Given the description of an element on the screen output the (x, y) to click on. 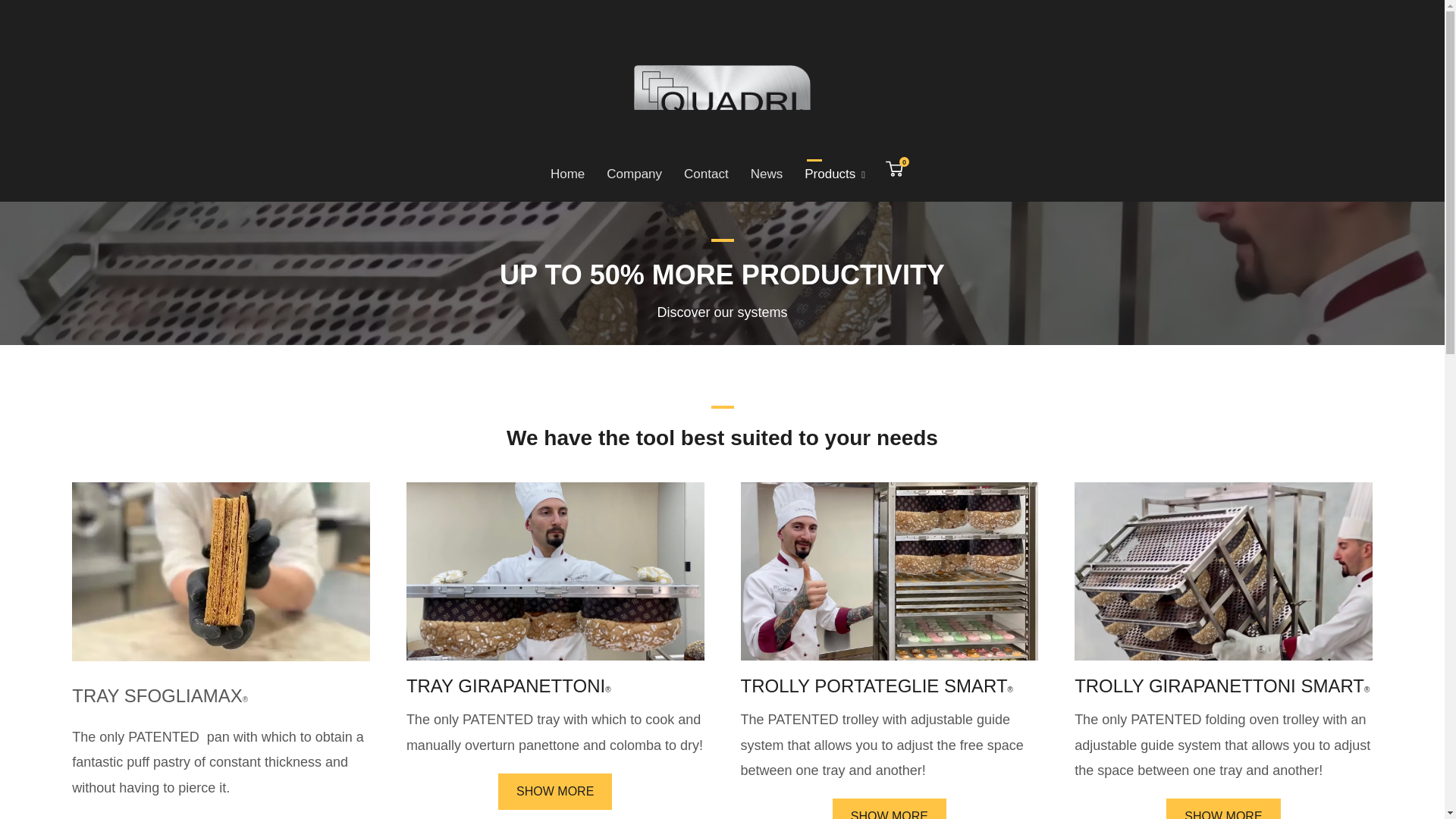
SHOW MORE (889, 808)
News (893, 169)
Home (766, 173)
SHOW MORE (567, 173)
SHOW MORE (554, 791)
Company (1222, 808)
Contact (633, 173)
